Given the description of an element on the screen output the (x, y) to click on. 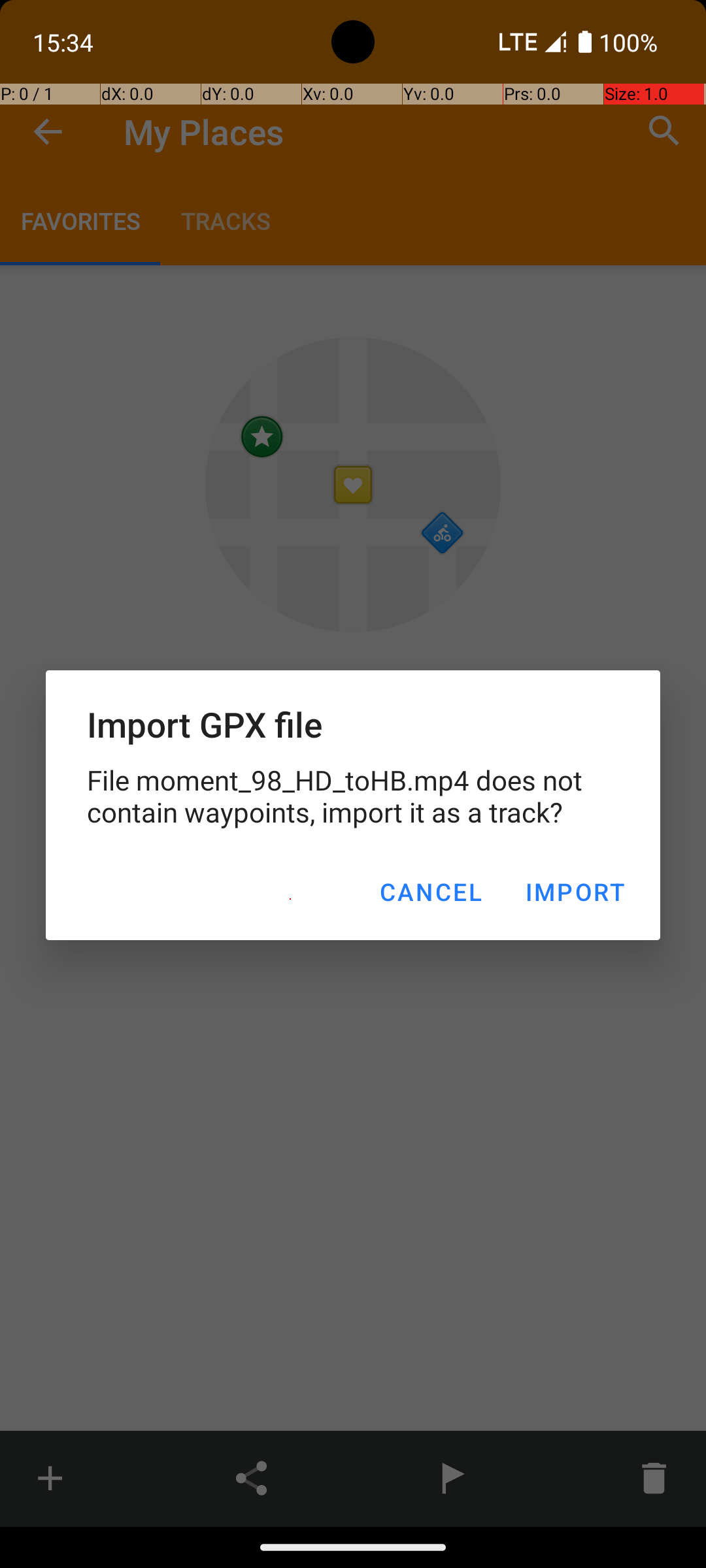
Import GPX file Element type: android.widget.TextView (352, 724)
File moment_98_HD_toHB.mp4 does not contain waypoints, import it as a track? Element type: android.widget.TextView (352, 795)
IMPORT Element type: android.widget.Button (574, 891)
